Given the description of an element on the screen output the (x, y) to click on. 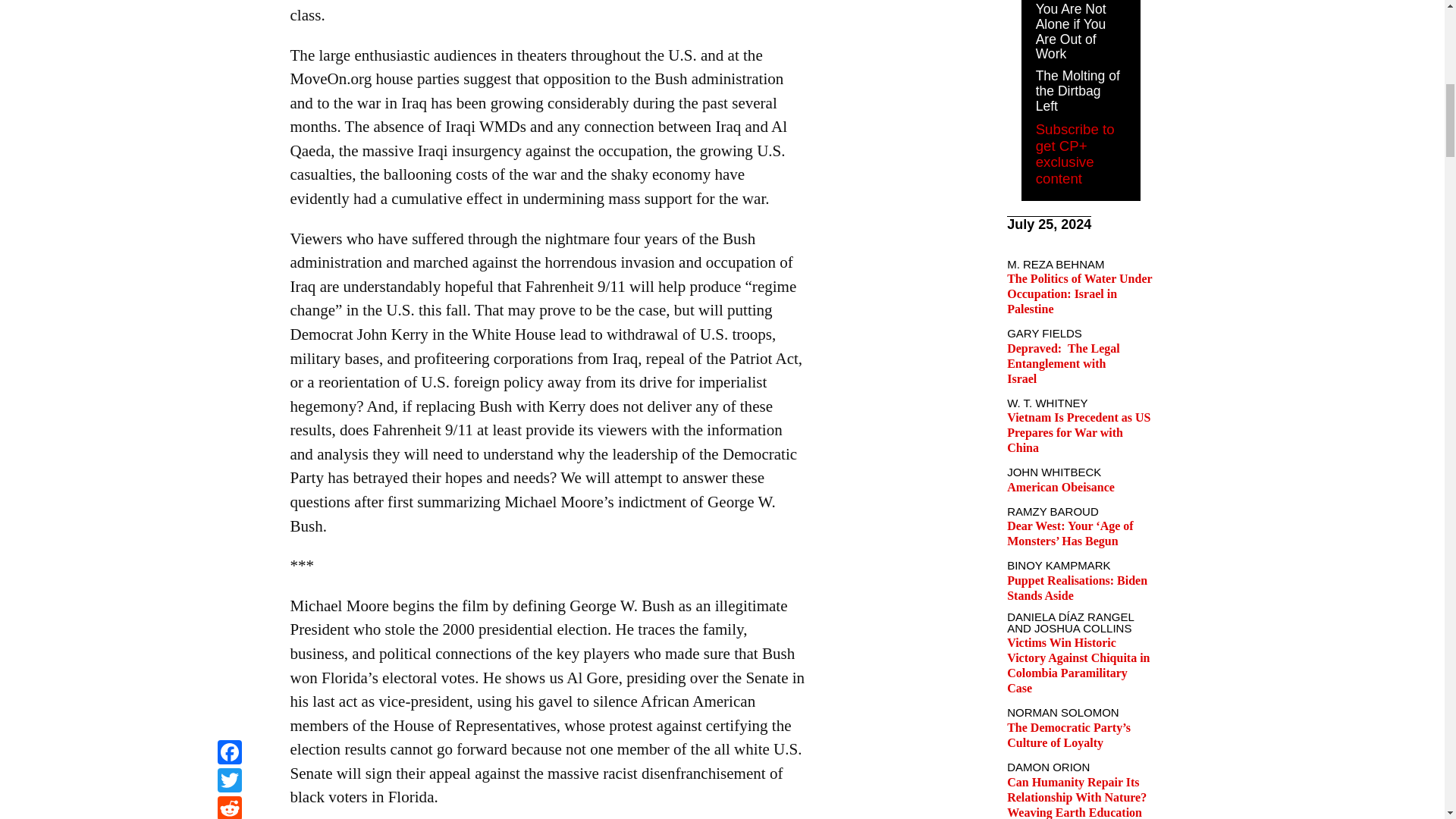
Email (229, 18)
Reddit (229, 2)
Reddit (229, 2)
Email (229, 18)
